Given the description of an element on the screen output the (x, y) to click on. 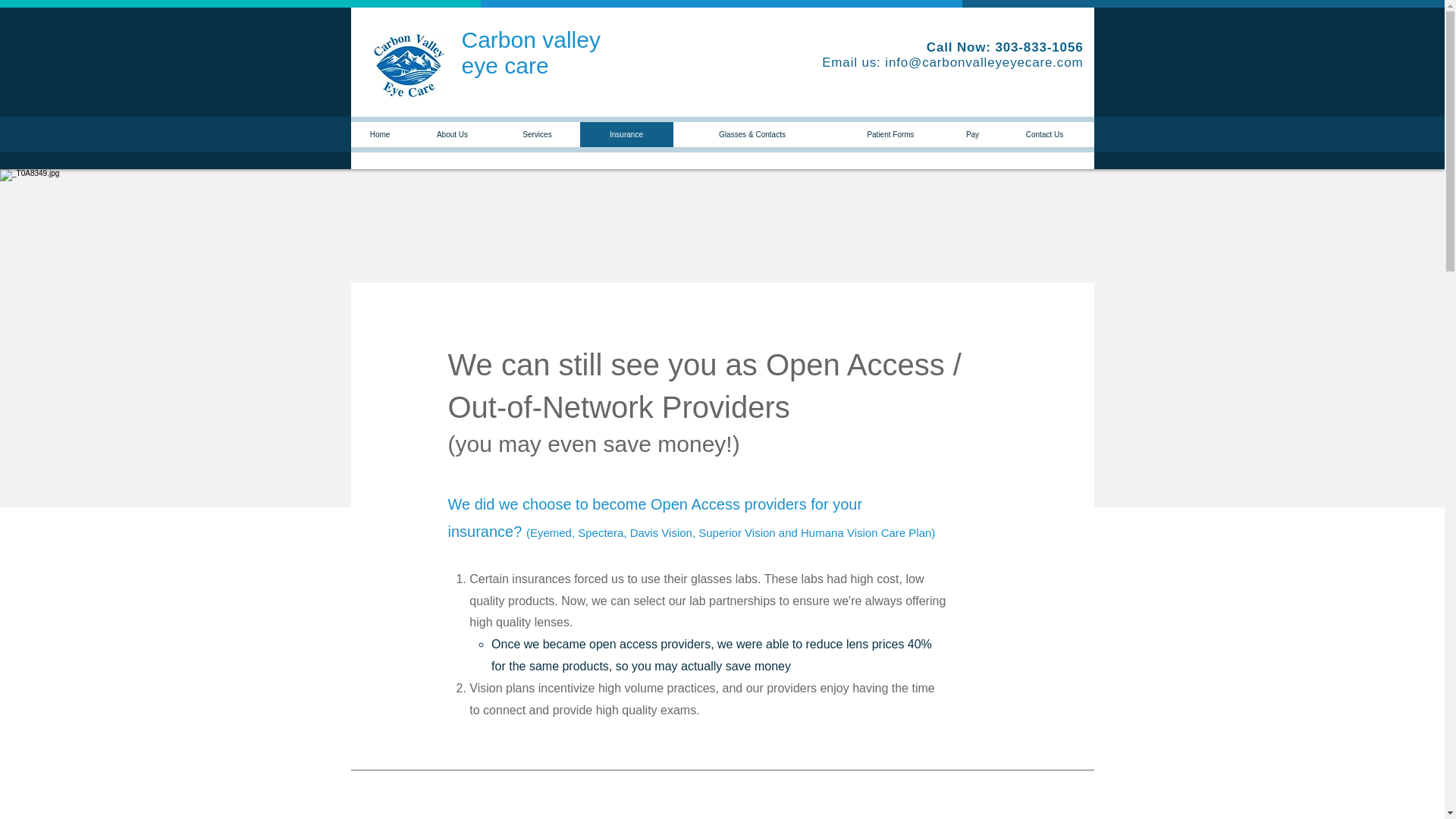
Insurance (625, 134)
About Us (452, 134)
Contact Us (1044, 134)
Pay (971, 134)
Call Now: 303-833-1056 (530, 52)
Patient Forms (1004, 47)
Home (890, 134)
Services (379, 134)
